Given the description of an element on the screen output the (x, y) to click on. 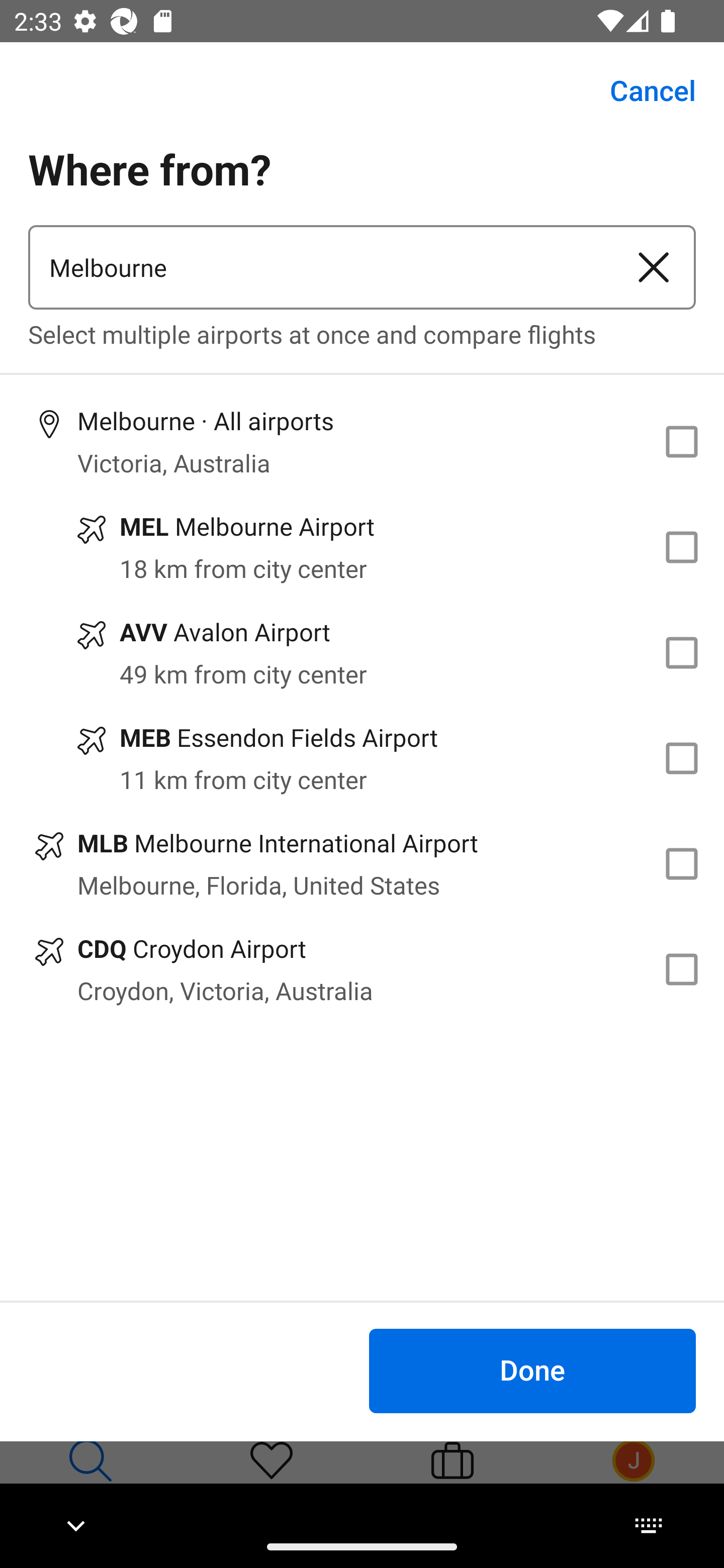
Cancel (641, 90)
Melbourne (319, 266)
Clear airport or city (653, 266)
Melbourne · All airports Victoria, Australia (362, 440)
MEL Melbourne Airport 18 km from city center (362, 547)
AVV Avalon Airport 49 km from city center (362, 652)
MEB Essendon Fields Airport 11 km from city center (362, 757)
CDQ Croydon Airport Croydon, Victoria, Australia (362, 969)
Done (532, 1370)
